Given the description of an element on the screen output the (x, y) to click on. 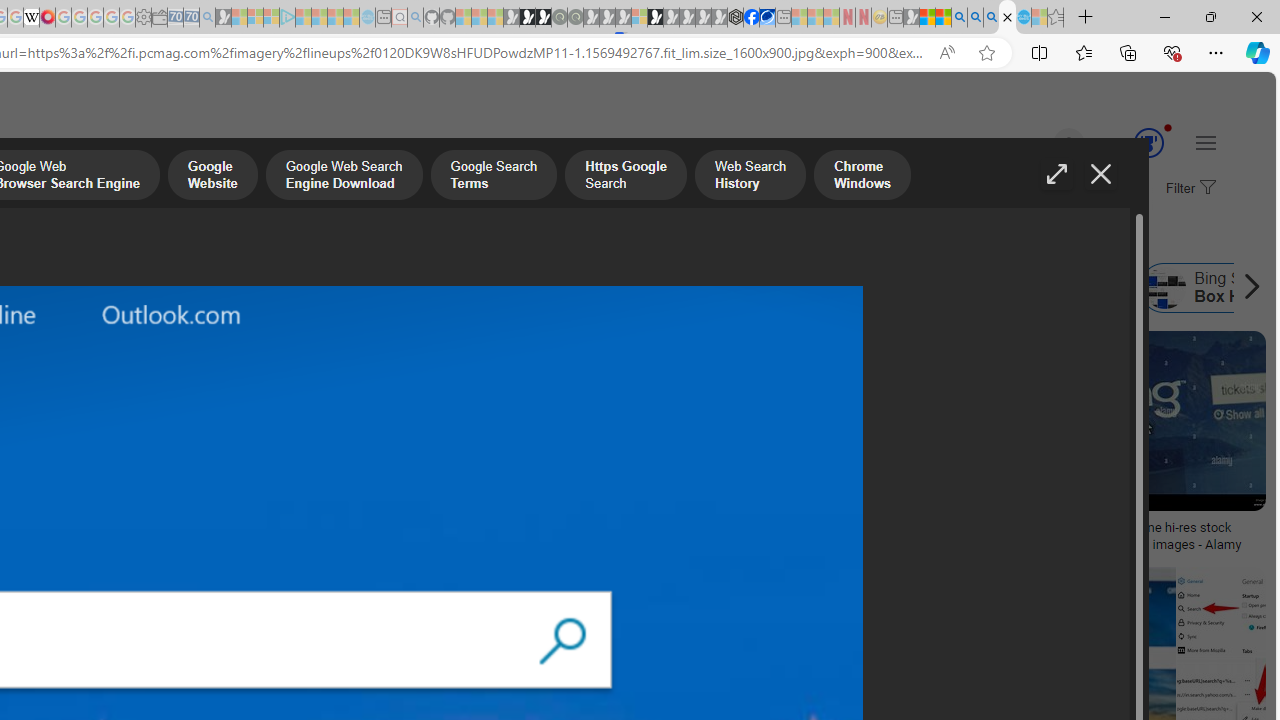
Full screen (1055, 173)
Bing Web (910, 287)
Web Search History (749, 177)
Bing Home Search Site (1051, 287)
Image result for Bing Search Site (1154, 421)
Eugene (1041, 143)
AirNow.gov (767, 17)
